Given the description of an element on the screen output the (x, y) to click on. 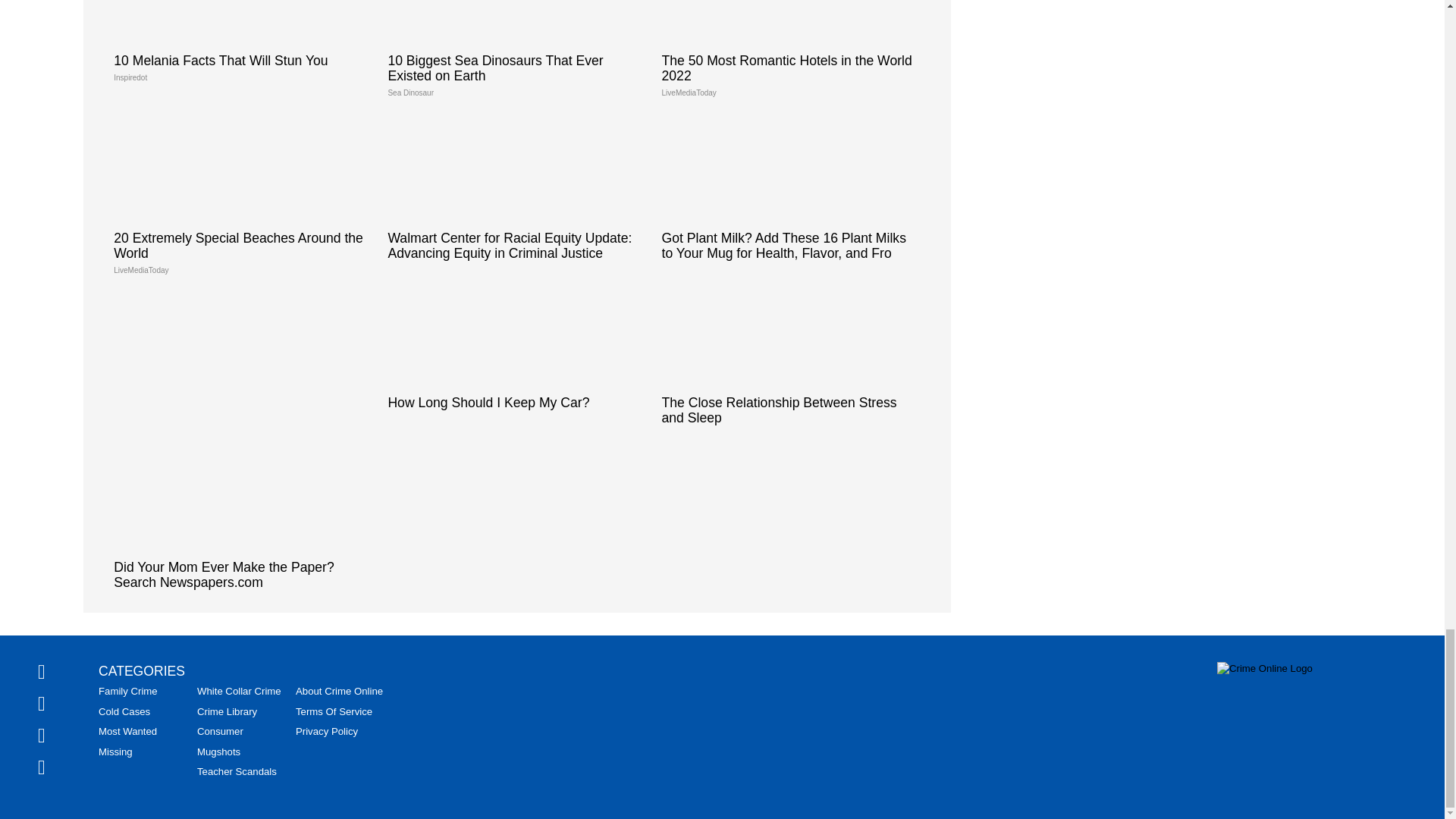
Did Your Mom Ever Make the Paper? Search Newspapers.com (242, 522)
20 Extremely Special Beaches Around the World (242, 199)
The 50 Most Romantic Hotels in the World 2022 (791, 54)
The Close Relationship Between Stress and Sleep (791, 358)
10 Melania Facts That Will Stun You (242, 47)
10 Biggest Sea Dinosaurs That Ever Existed on Earth (515, 54)
How Long Should I Keep My Car? (515, 350)
